Given the description of an element on the screen output the (x, y) to click on. 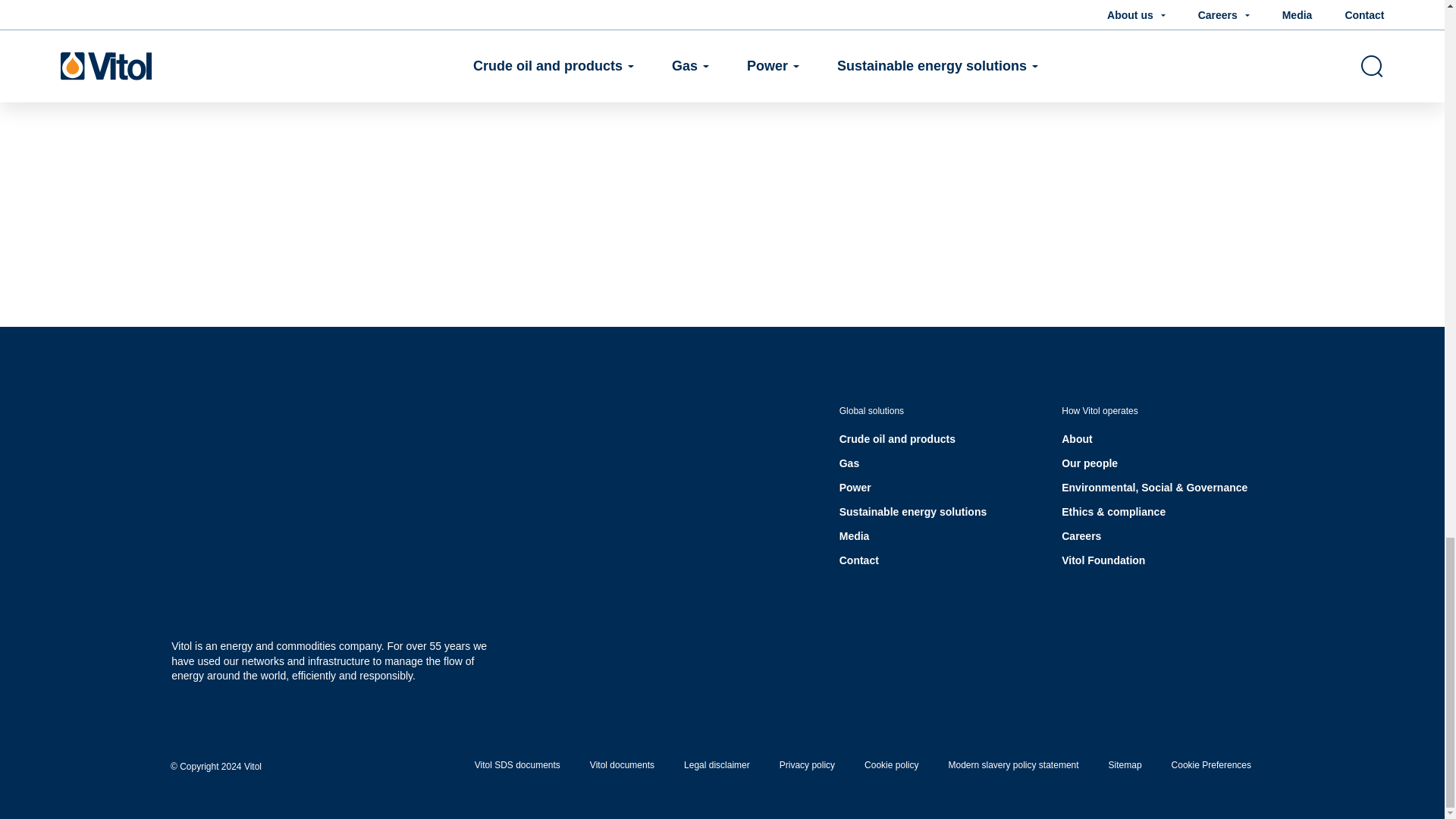
Vitol documents (621, 765)
Cookie policy (891, 765)
Legal disclaimer (716, 765)
Cookie Preferences (1211, 765)
Vitol SDS documents (517, 765)
Modern slavery policy statement (1012, 765)
Privacy policy (806, 765)
Sitemap (1124, 765)
